Given the description of an element on the screen output the (x, y) to click on. 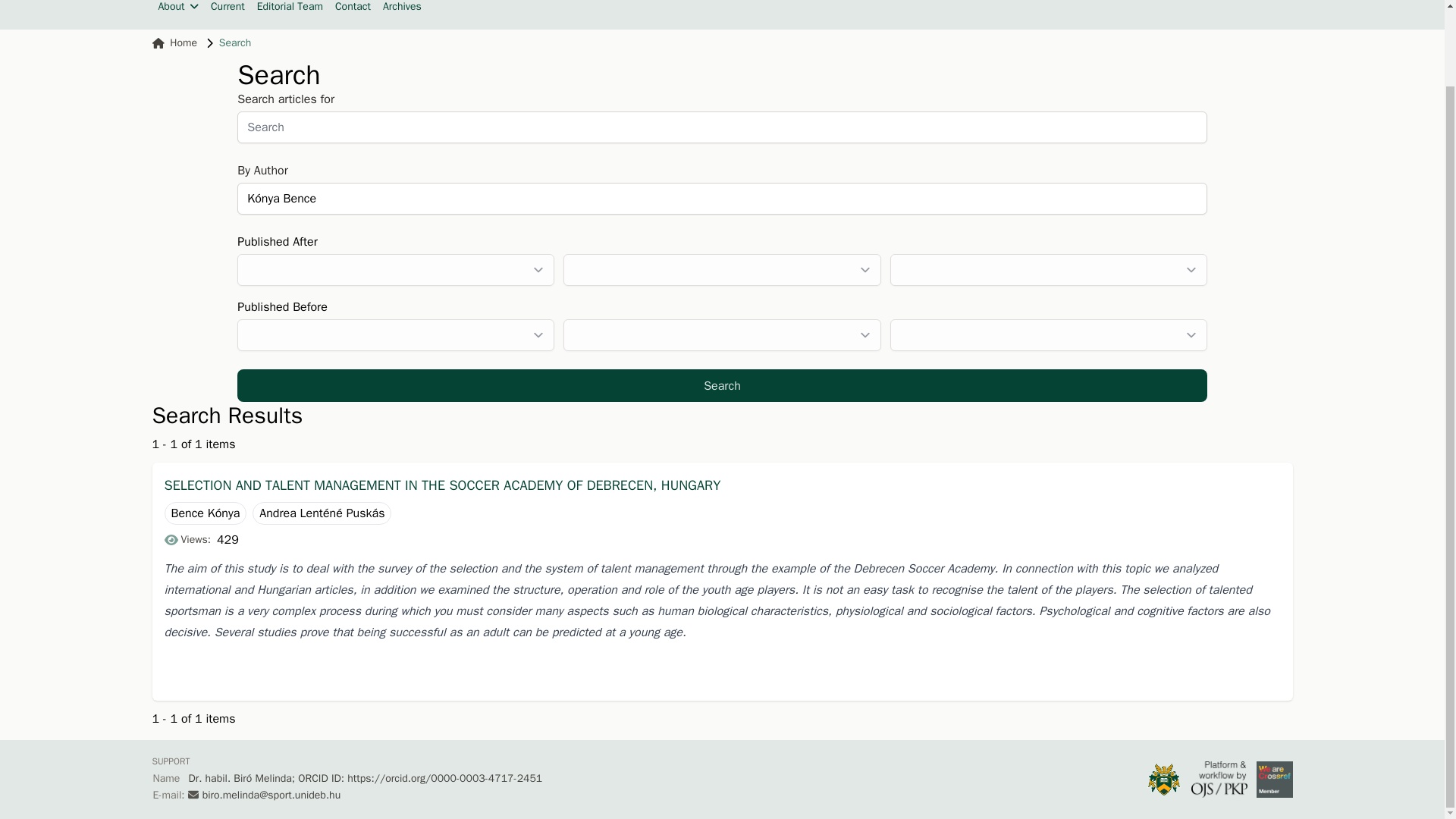
About (177, 7)
Contact (352, 7)
Archives (402, 7)
Home (173, 43)
Current (227, 7)
Editorial Team (290, 7)
